Given the description of an element on the screen output the (x, y) to click on. 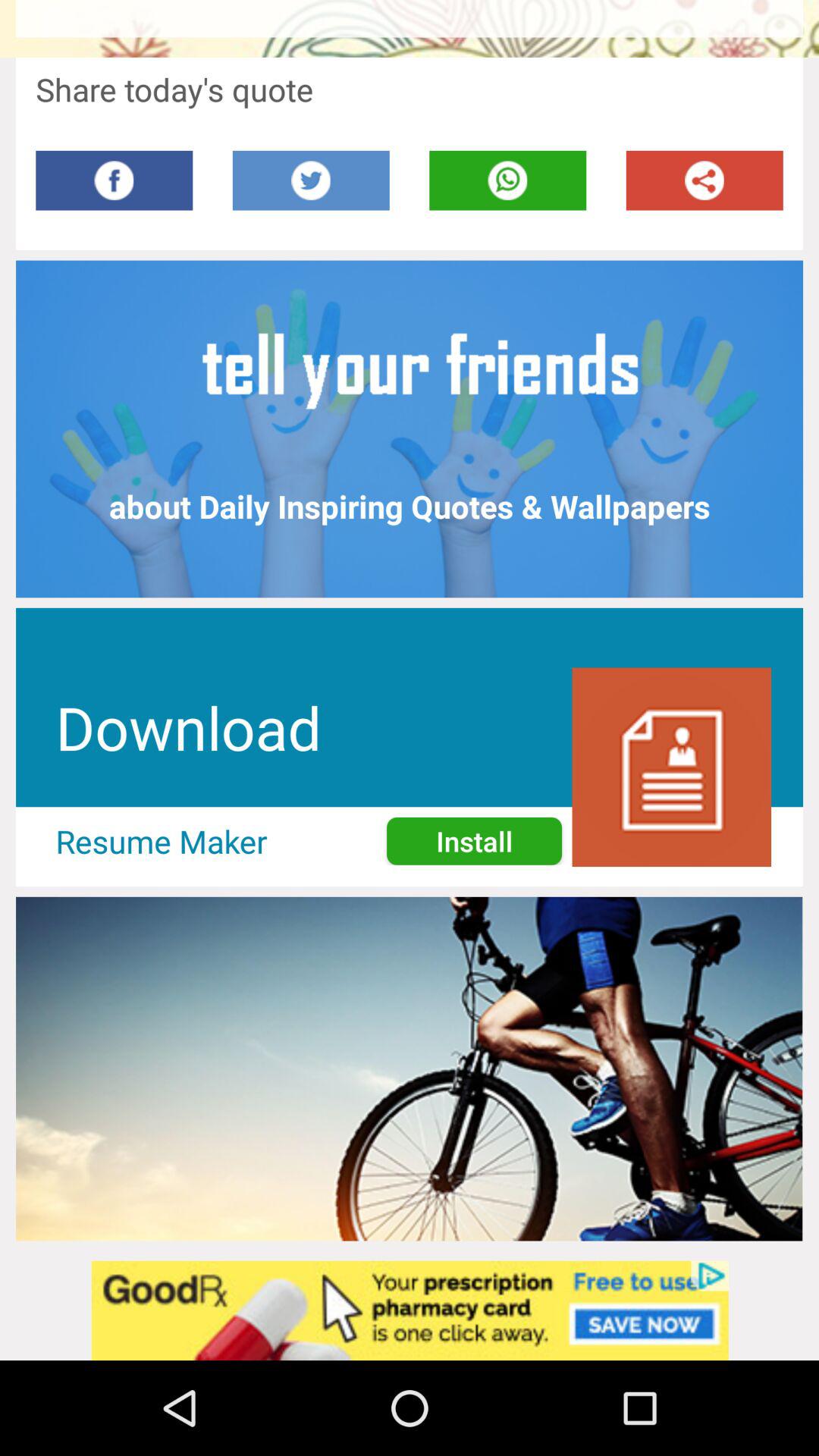
twitter option (310, 180)
